Given the description of an element on the screen output the (x, y) to click on. 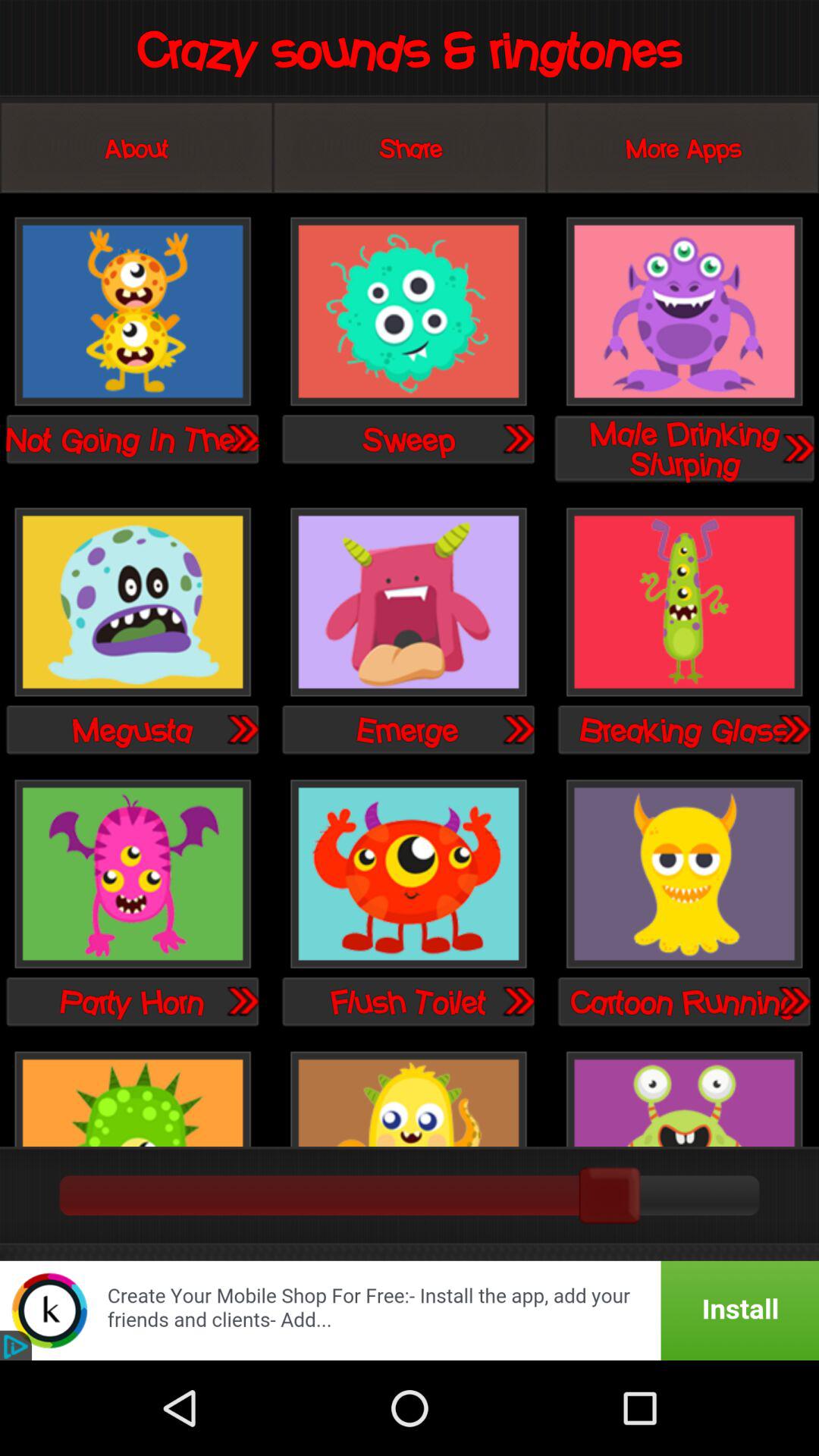
go the page for this item (793, 1000)
